Given the description of an element on the screen output the (x, y) to click on. 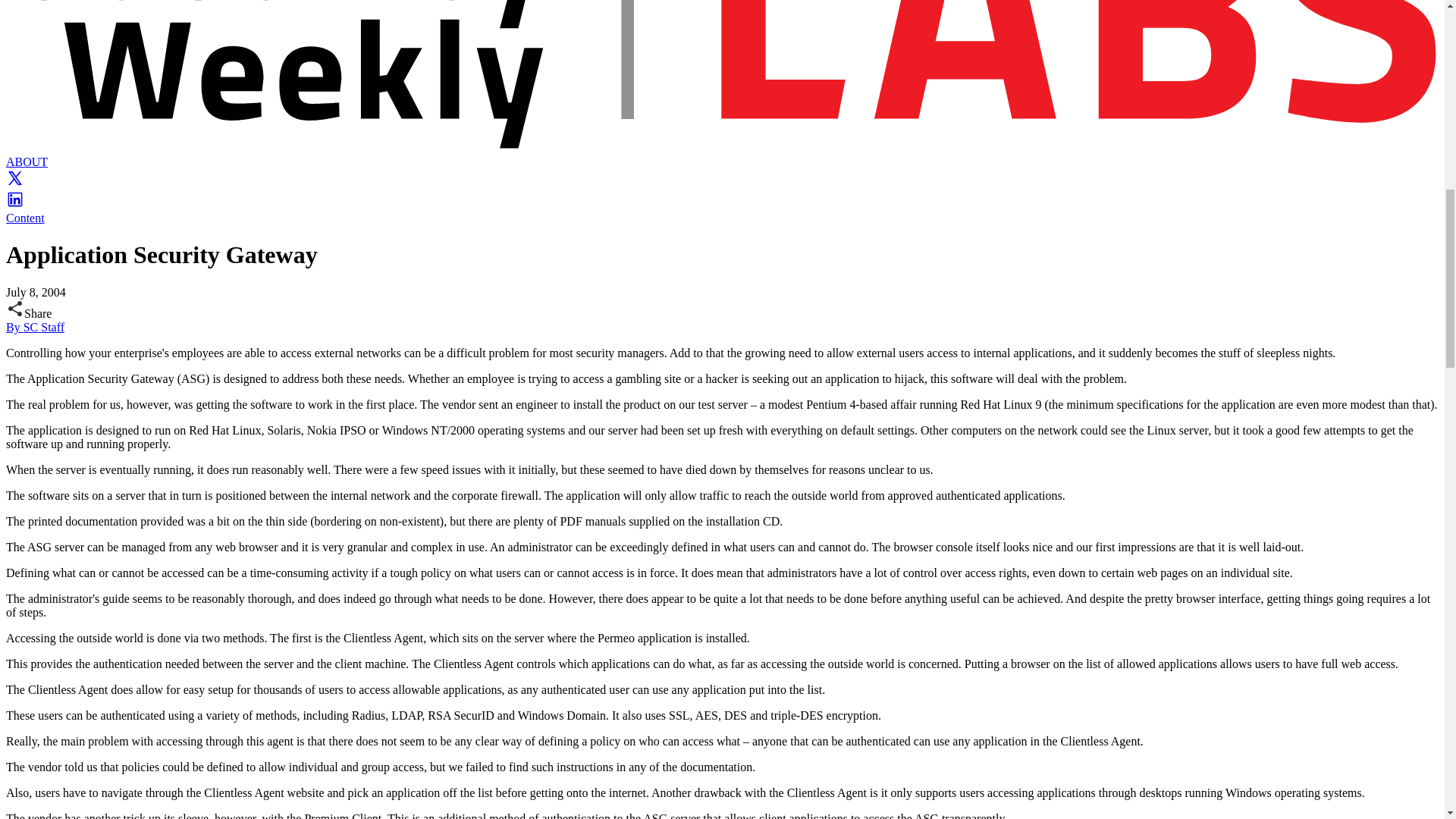
By SC Staff (34, 327)
ABOUT (26, 161)
twitter (14, 182)
Content (25, 217)
linkedin (14, 204)
